Given the description of an element on the screen output the (x, y) to click on. 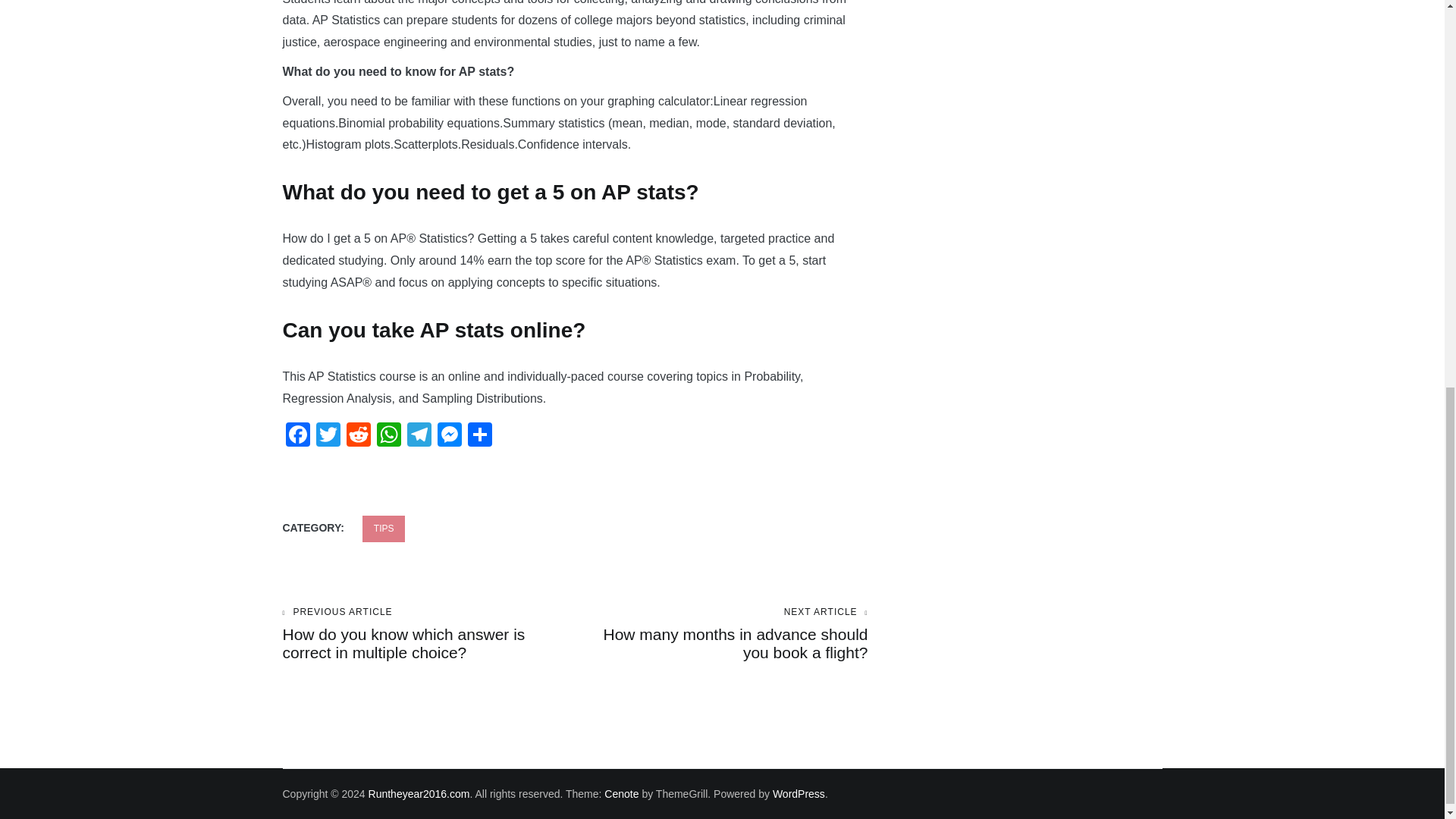
WhatsApp (387, 436)
Messenger (448, 436)
Runtheyear2016.com (419, 793)
Telegram (418, 436)
Facebook (297, 436)
WordPress (799, 793)
WhatsApp (387, 436)
Cenote (621, 793)
